Given the description of an element on the screen output the (x, y) to click on. 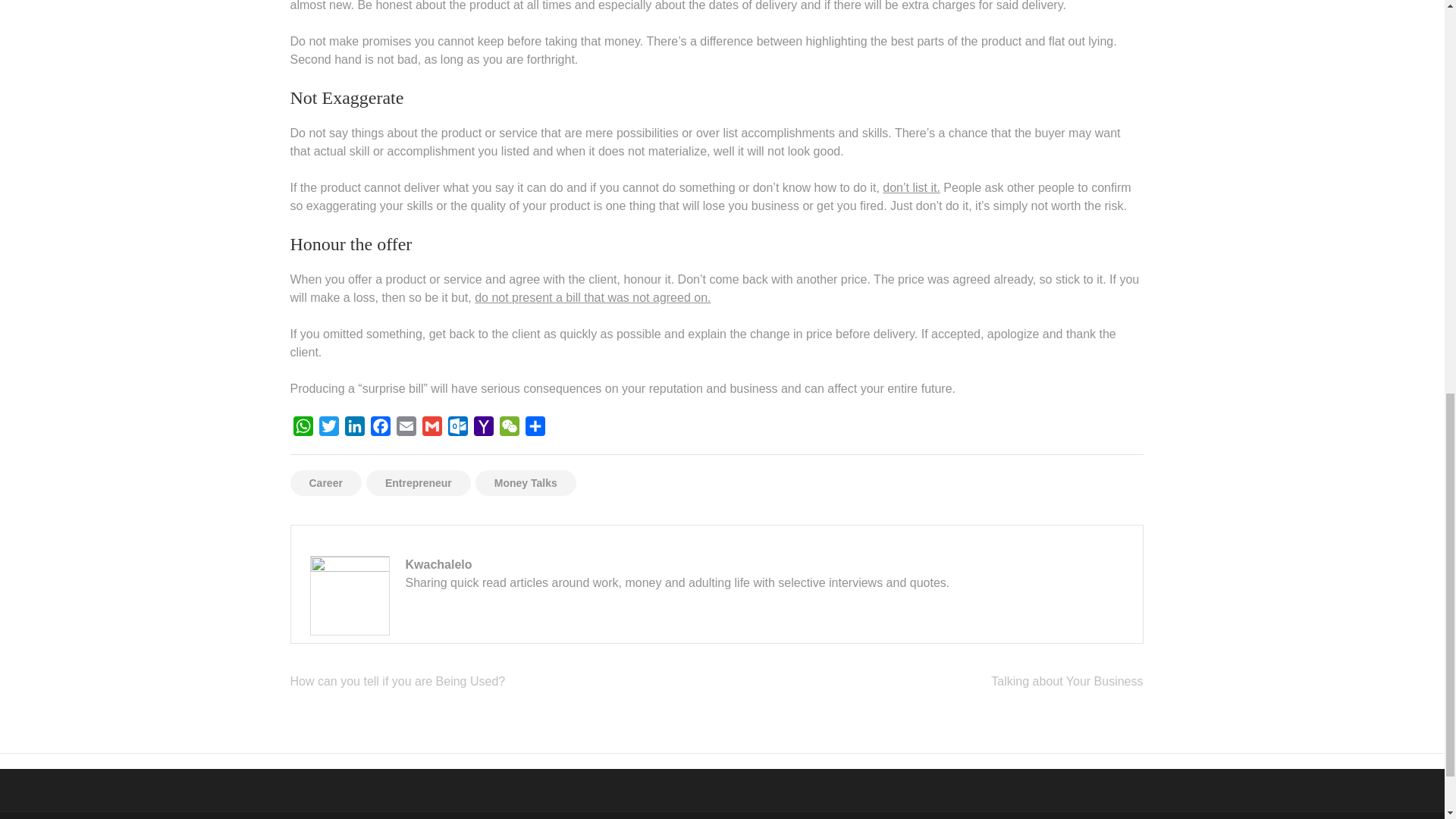
WhatsApp (302, 429)
Yahoo Mail (483, 429)
WeChat (508, 429)
Career (325, 483)
Gmail (431, 429)
Facebook (379, 429)
Email (406, 429)
WhatsApp (302, 429)
Yahoo Mail (483, 429)
WeChat (508, 429)
Outlook.com (457, 429)
do not present a bill that was not agreed on. (592, 297)
Twitter (327, 429)
LinkedIn (353, 429)
Email (406, 429)
